Given the description of an element on the screen output the (x, y) to click on. 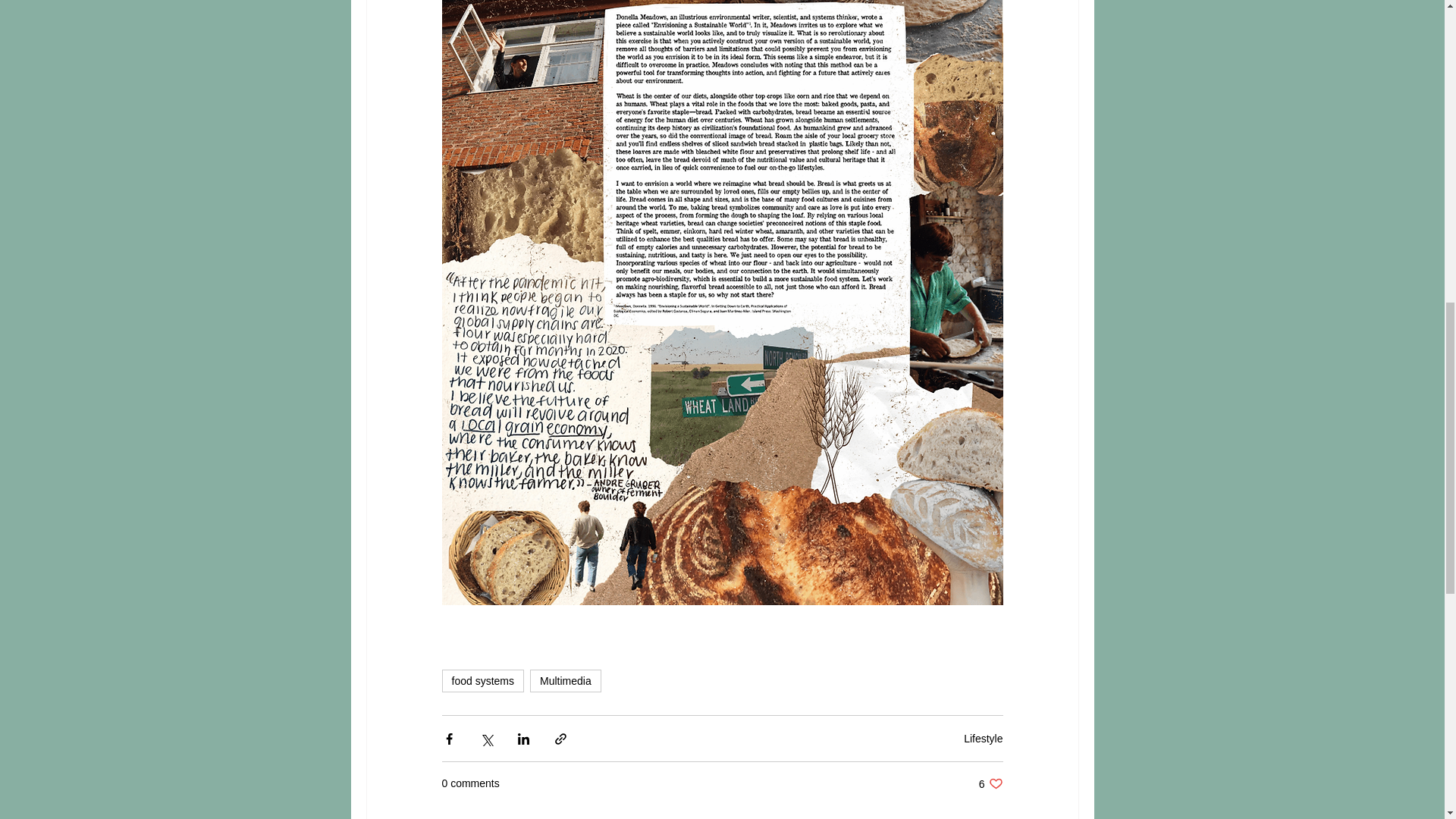
Lifestyle (983, 738)
food systems (481, 680)
Multimedia (565, 680)
